Given the description of an element on the screen output the (x, y) to click on. 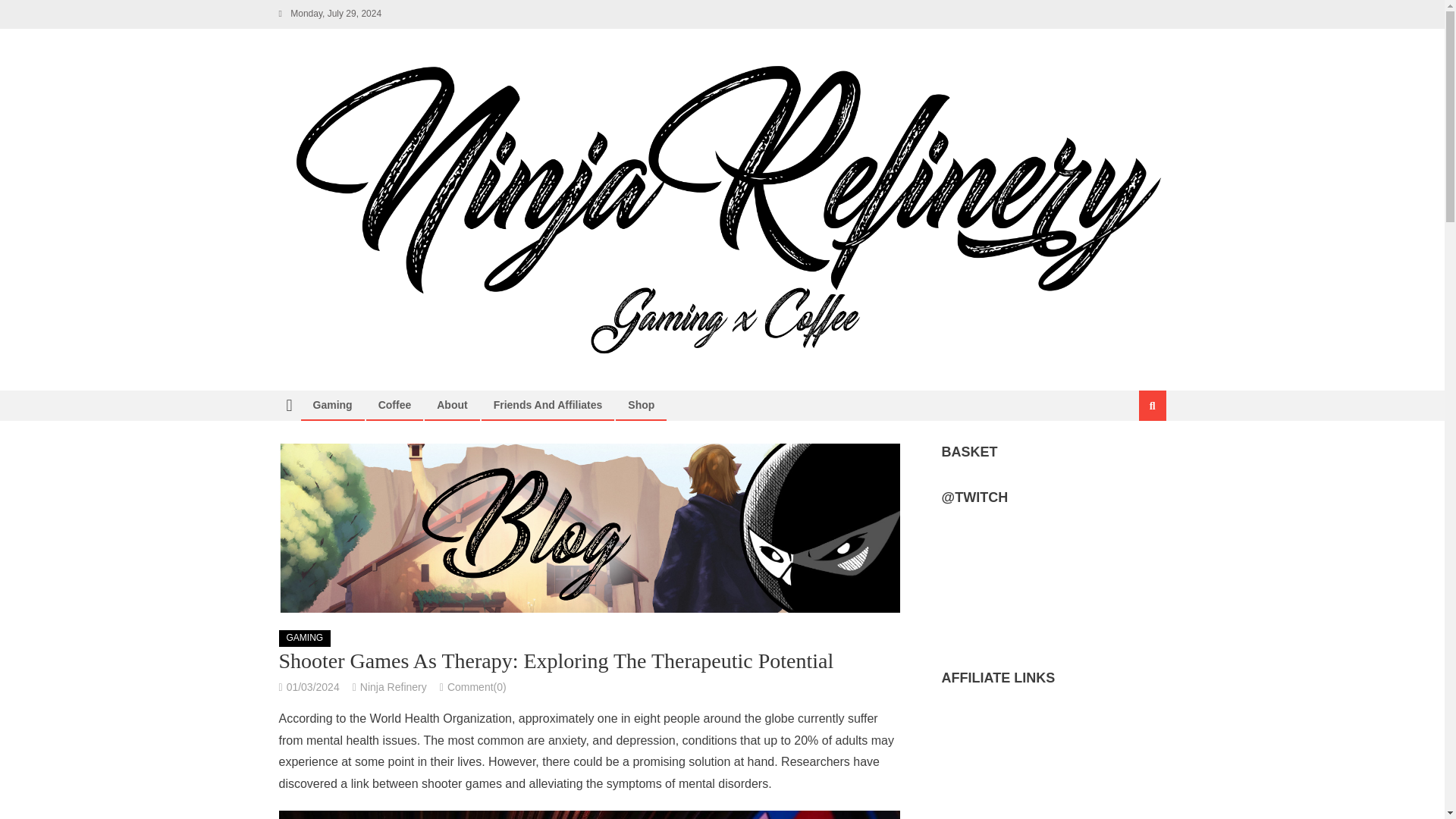
Search (1133, 456)
About (452, 404)
Shop (640, 404)
Gaming (332, 404)
Friends And Affiliates (547, 404)
Ninja Refinery (392, 686)
GAMING (305, 638)
Coffee (394, 404)
